Given the description of an element on the screen output the (x, y) to click on. 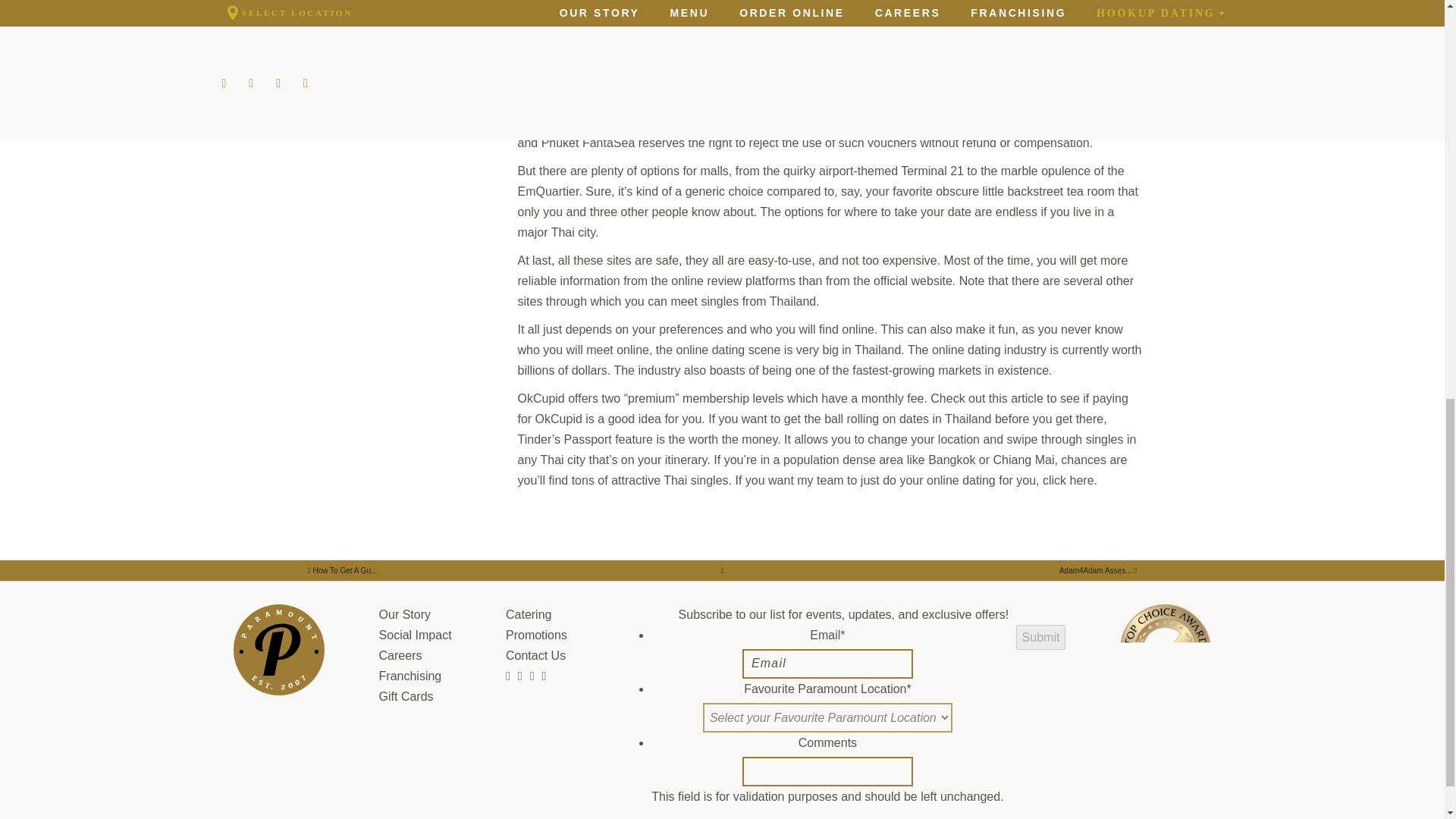
Next Post (342, 571)
Submit (1040, 637)
Adam4Adam Asses... (1097, 571)
How To Get A Gu... (342, 571)
Previous Post (1097, 571)
